Given the description of an element on the screen output the (x, y) to click on. 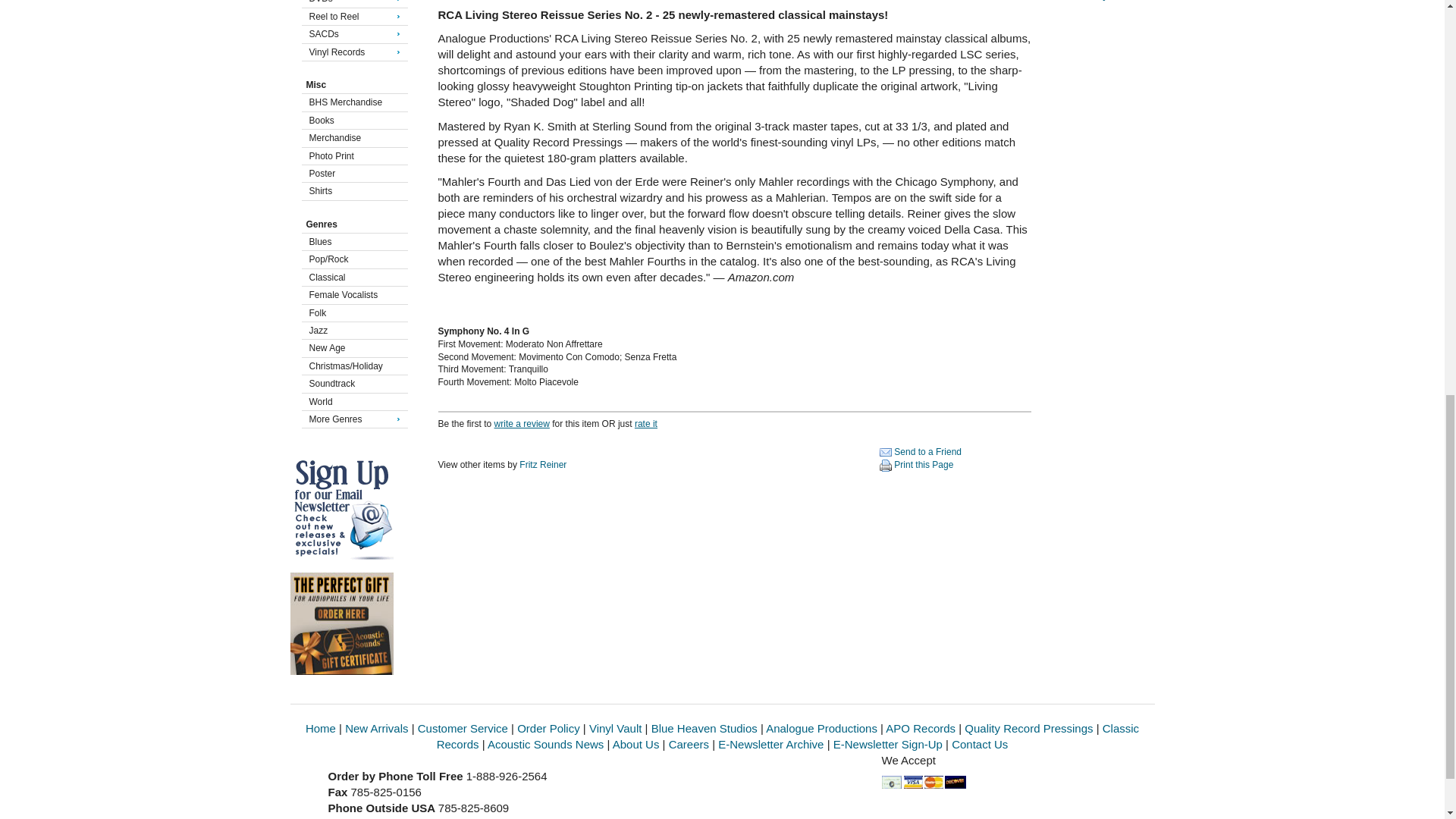
Classical (351, 277)
Female Vocalists (351, 295)
Blues (351, 241)
New Age (351, 347)
World (351, 401)
Soundtrack (351, 383)
Jazz (351, 330)
Folk  (351, 313)
Browse Genres (350, 223)
